Given the description of an element on the screen output the (x, y) to click on. 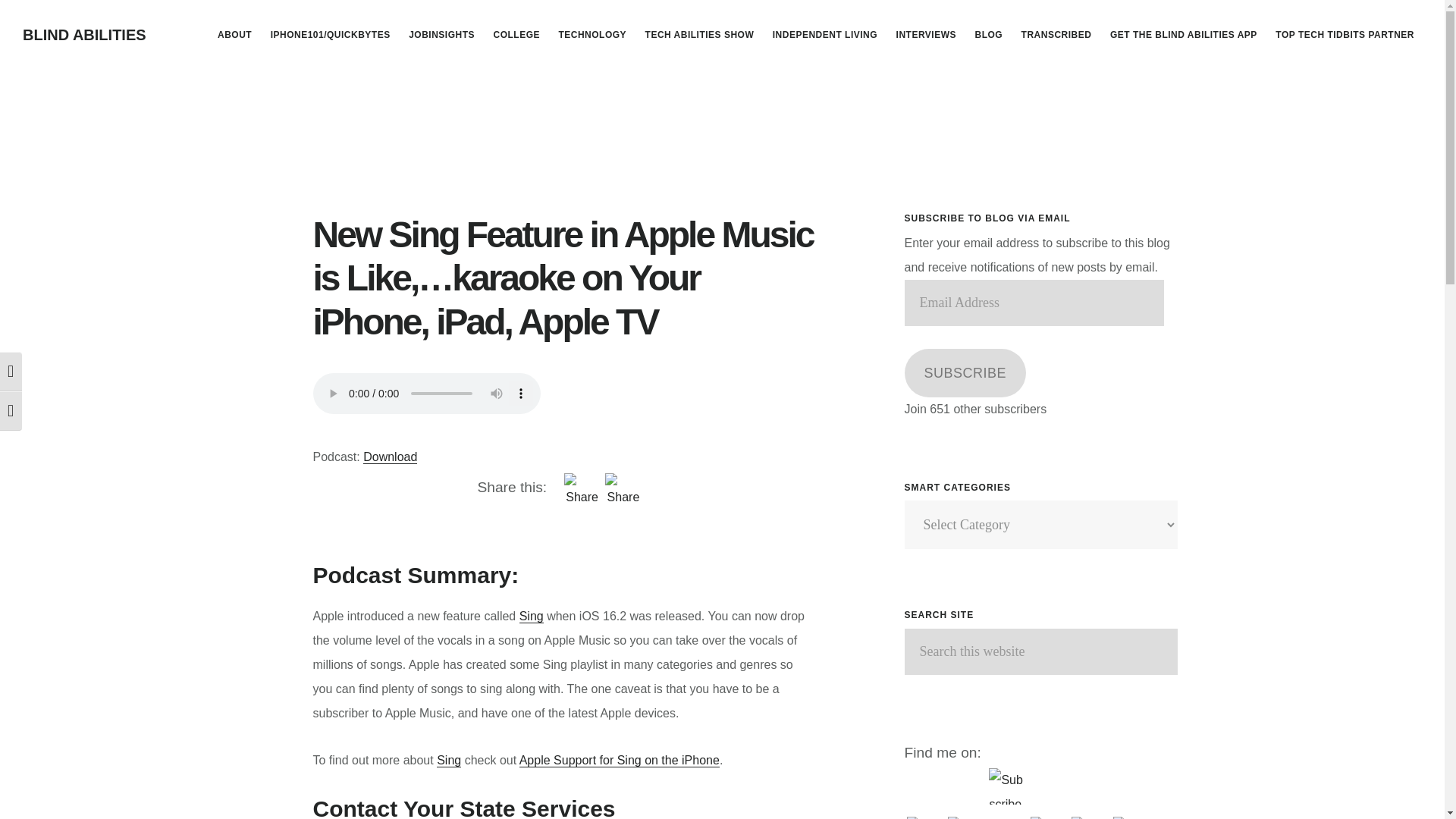
JOBINSIGHTS (441, 34)
TRANSCRIBED (1056, 34)
TECH ABILITIES SHOW (699, 34)
TOP TECH TIDBITS PARTNER (1345, 34)
Share via Twitter (581, 545)
INDEPENDENT LIVING (825, 34)
ABOUT (234, 34)
Download (389, 457)
BLIND ABILITIES (85, 34)
Sing (448, 760)
TECHNOLOGY (591, 34)
GET THE BLIND ABILITIES APP (1183, 34)
